Given the description of an element on the screen output the (x, y) to click on. 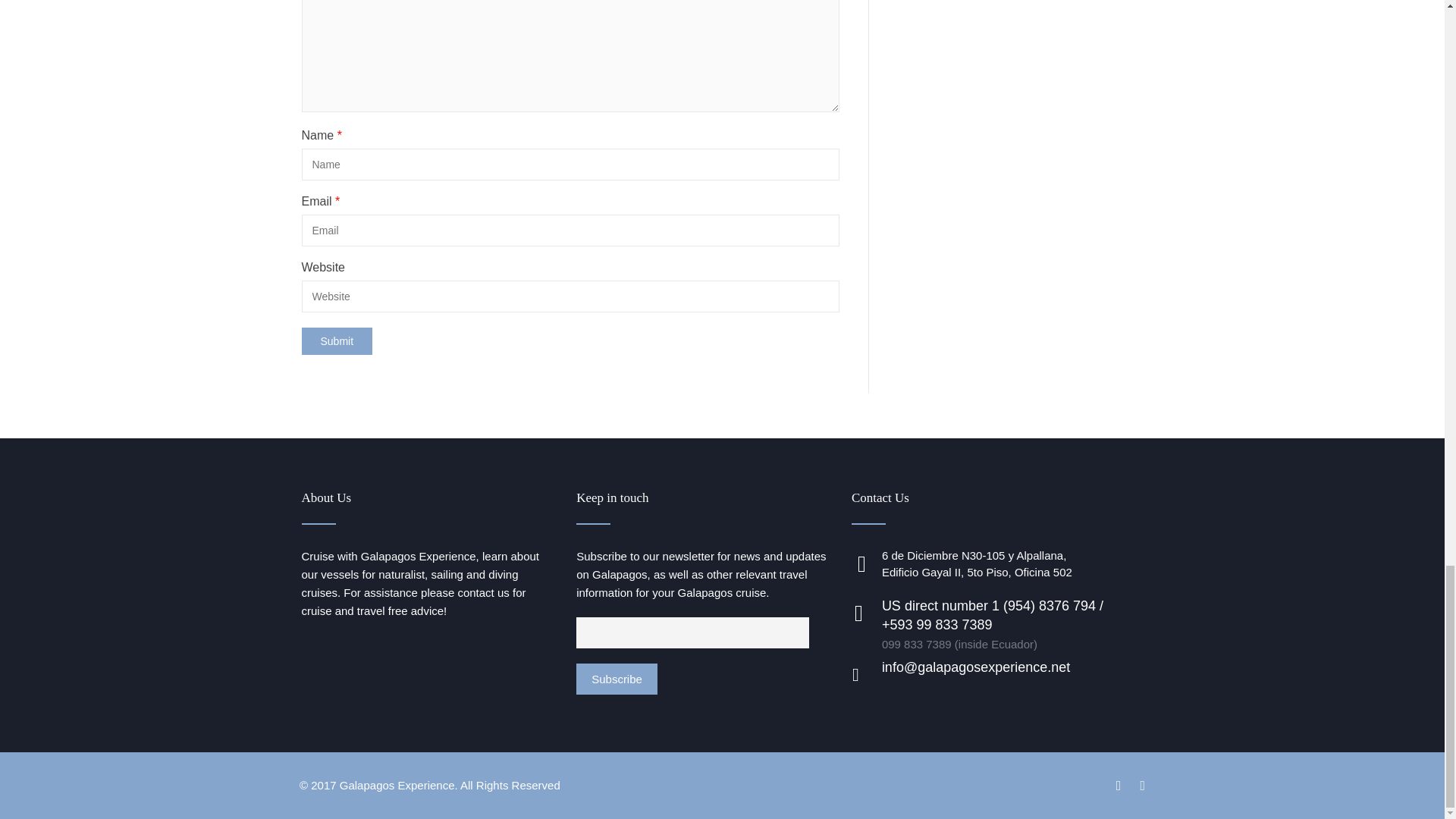
Subscribe (617, 678)
Submit (336, 340)
